Given the description of an element on the screen output the (x, y) to click on. 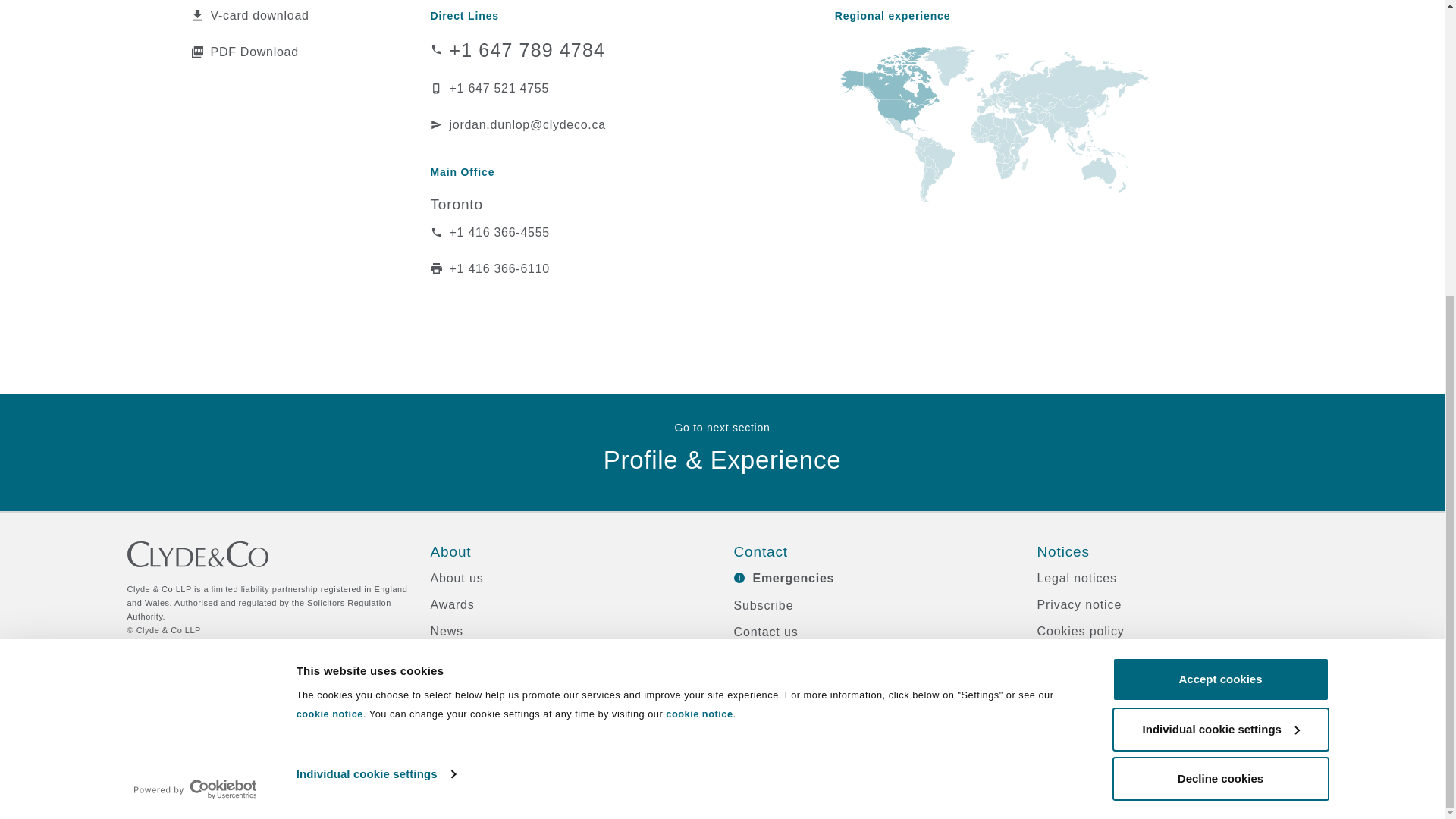
Individual cookie settings (375, 318)
cookie notice (329, 257)
cookie notice (698, 257)
